Given the description of an element on the screen output the (x, y) to click on. 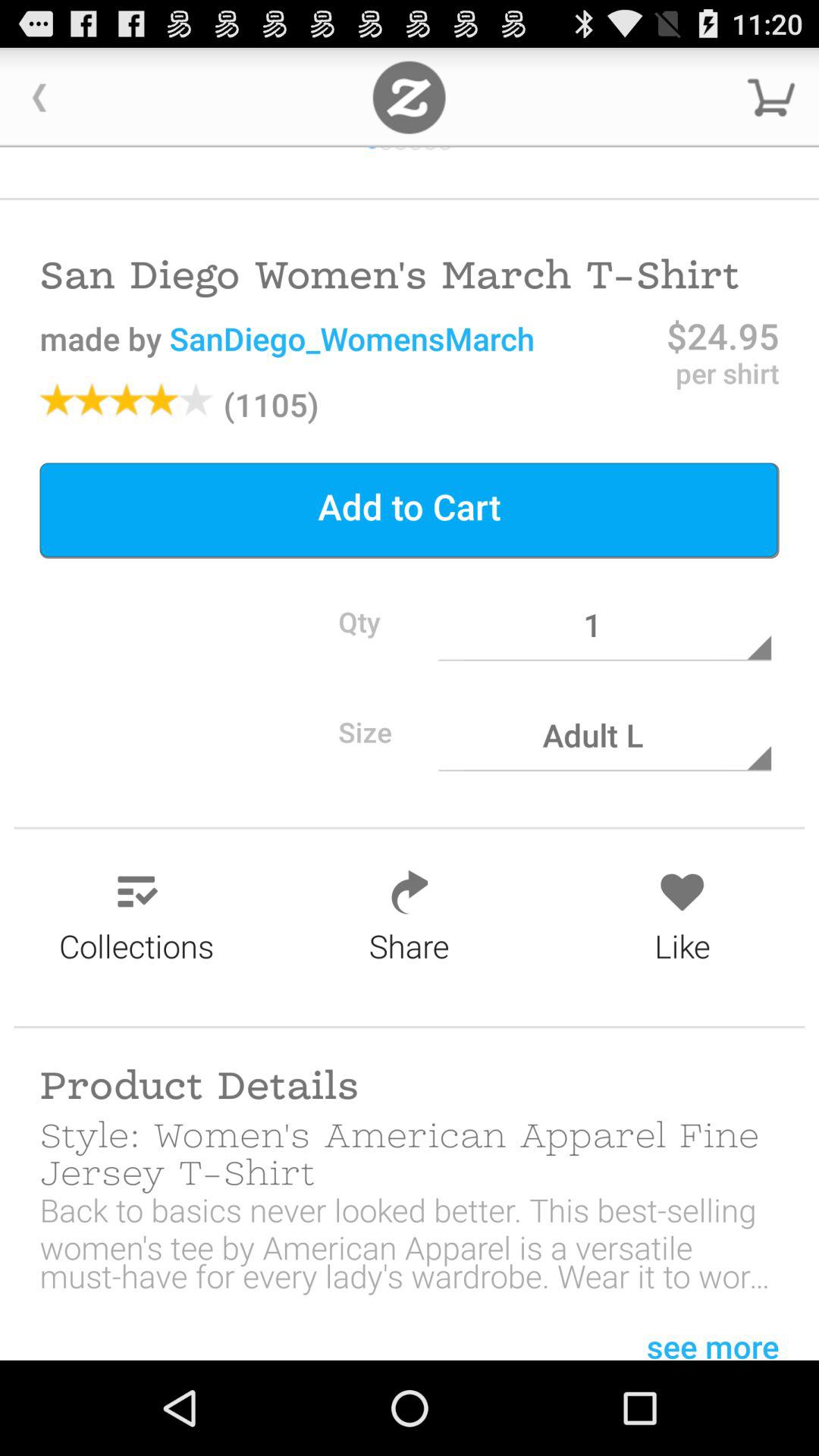
auto play add to cart (408, 97)
